Given the description of an element on the screen output the (x, y) to click on. 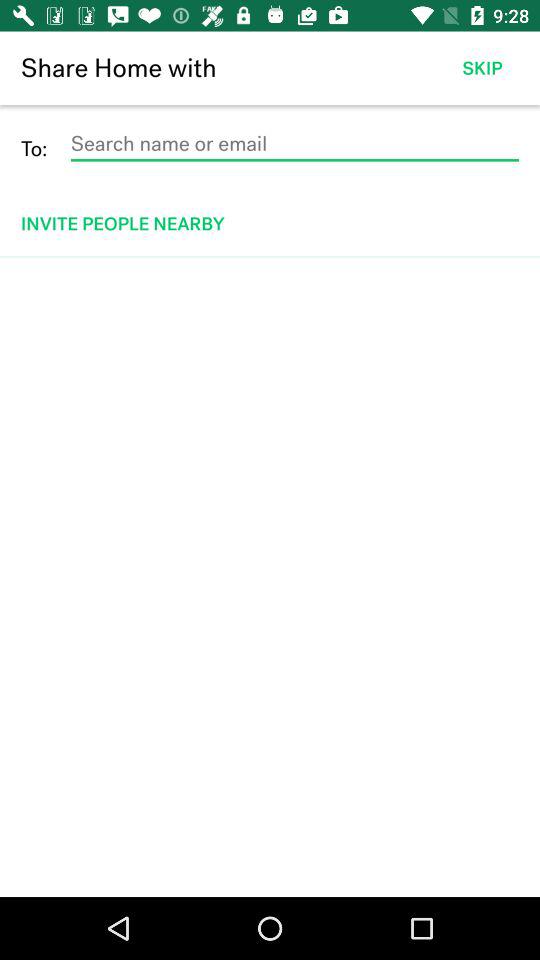
turn on the item next to the share home with app (482, 68)
